Given the description of an element on the screen output the (x, y) to click on. 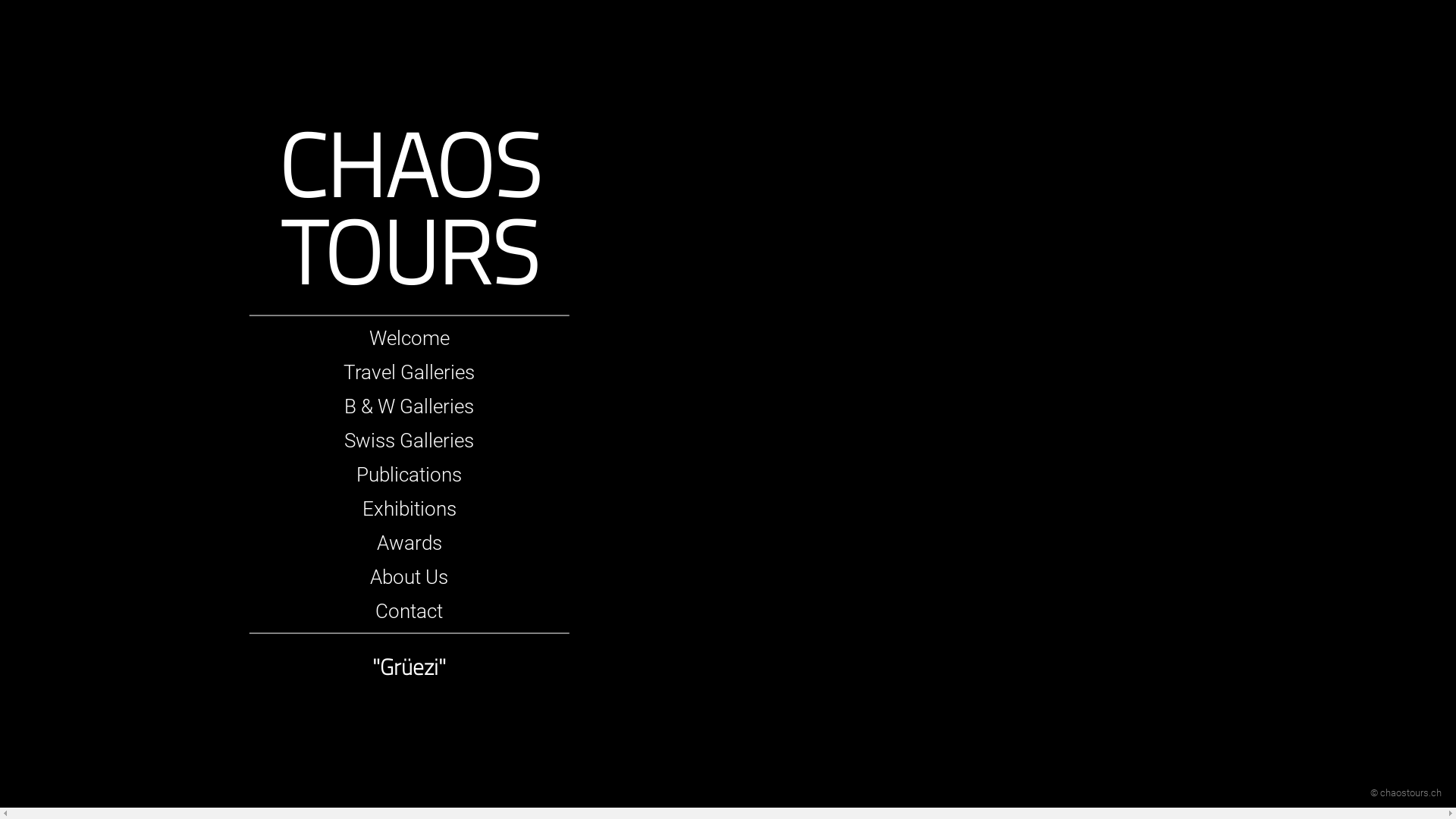
B & W Galleries Element type: text (408, 406)
Exhibitions Element type: text (409, 508)
Awards Element type: text (409, 542)
Publications Element type: text (408, 474)
Contact Element type: text (408, 610)
Swiss Galleries Element type: text (408, 440)
About Us Element type: text (409, 576)
Welcome Element type: text (409, 337)
Travel Galleries Element type: text (408, 371)
